Given the description of an element on the screen output the (x, y) to click on. 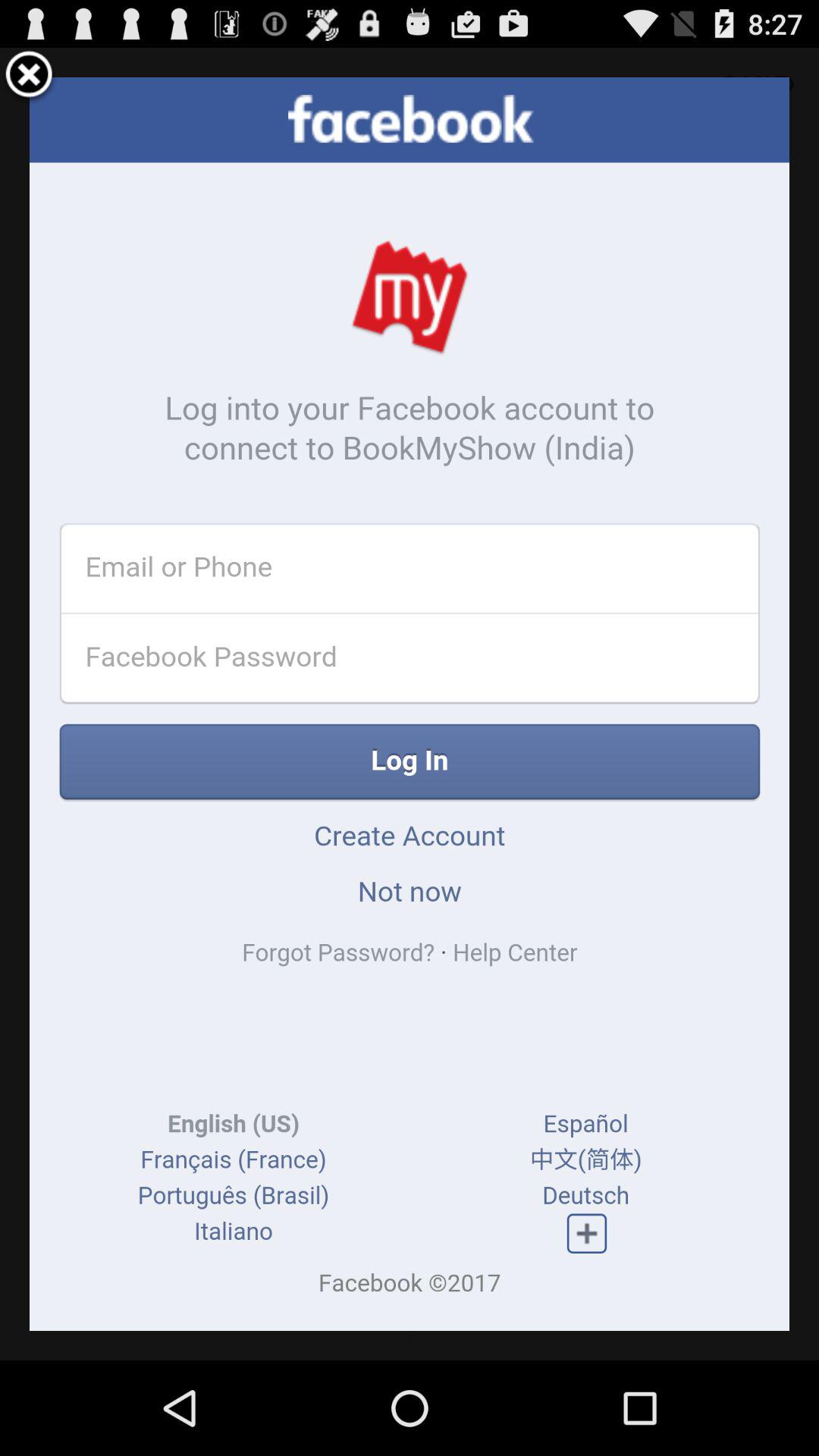
close facebook window (29, 76)
